Given the description of an element on the screen output the (x, y) to click on. 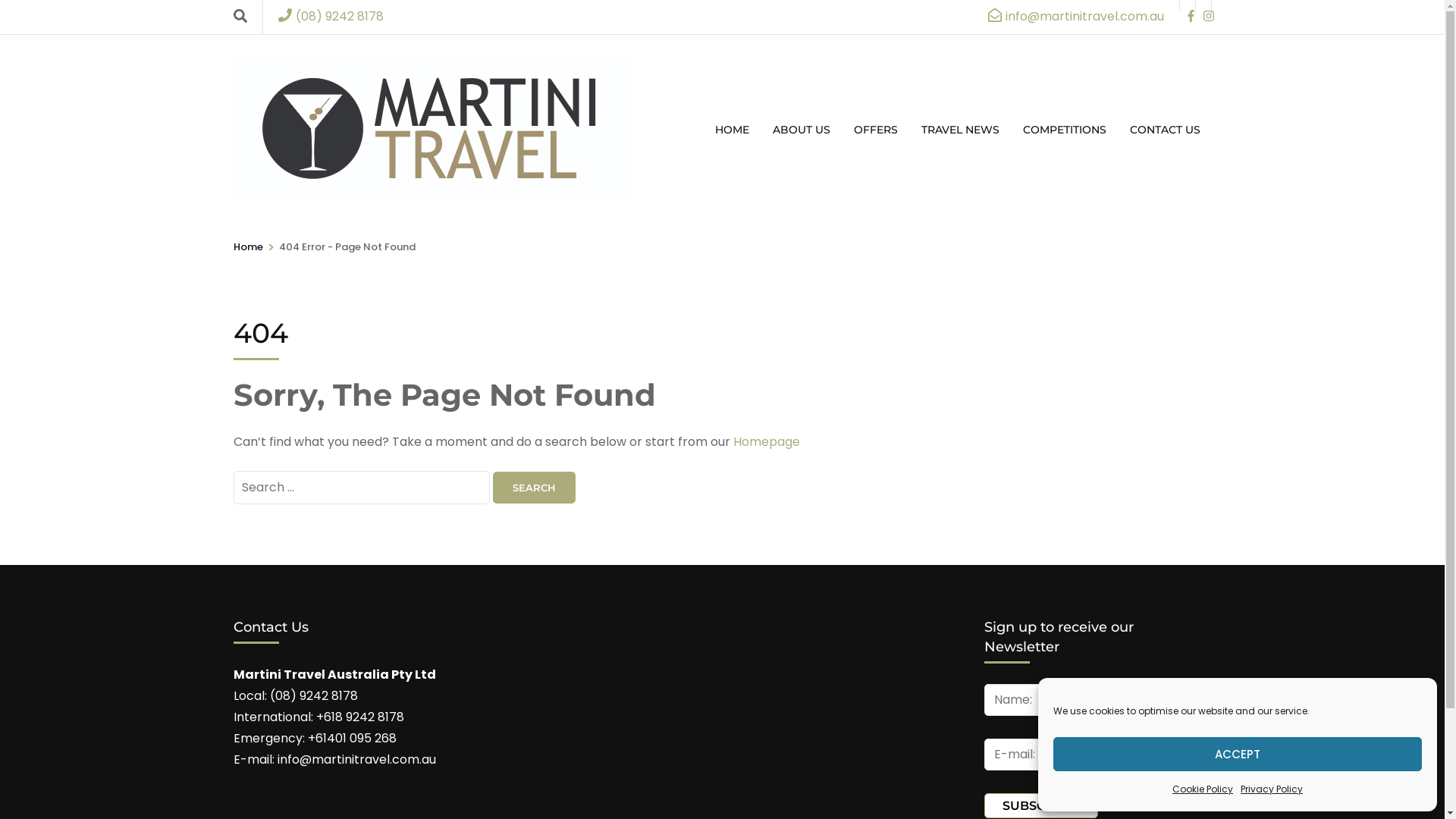
ABOUT US Element type: text (801, 129)
Cookie Policy Element type: text (1202, 789)
Search Element type: text (533, 487)
CONTACT US Element type: text (1164, 129)
ACCEPT Element type: text (1237, 754)
Homepage Element type: text (765, 441)
Subscribe! Element type: text (1041, 805)
TRAVEL NEWS Element type: text (960, 129)
HOME Element type: text (731, 129)
Privacy Policy Element type: text (1271, 789)
COMPETITIONS Element type: text (1064, 129)
OFFERS Element type: text (874, 129)
(08) 9242 8178 Element type: text (329, 16)
info@martinitravel.com.au Element type: text (1075, 16)
Home Element type: text (248, 246)
